Given the description of an element on the screen output the (x, y) to click on. 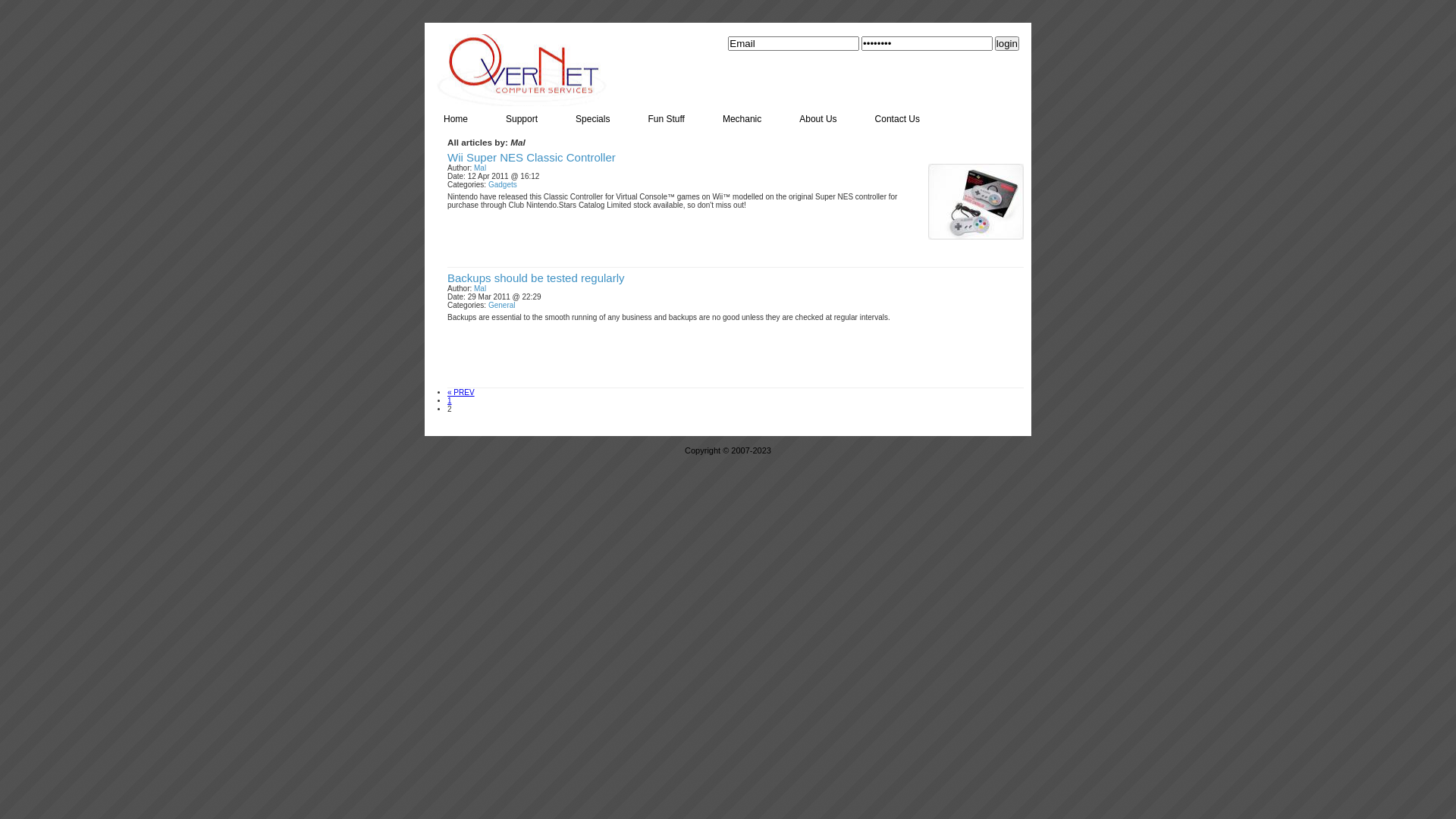
Contact Us Element type: text (897, 115)
Password Element type: text (926, 43)
Fun Stuff Element type: text (665, 115)
Mal Element type: text (479, 288)
Home Element type: text (455, 115)
Gadgets Element type: text (502, 184)
General Element type: text (501, 305)
Wii Super NES Classic Controller Element type: text (531, 156)
About Us Element type: text (817, 115)
Email Element type: text (793, 43)
Mal Element type: text (479, 167)
Specials Element type: text (592, 115)
Backups should be tested regularly Element type: text (535, 277)
login Element type: text (1006, 43)
1 Element type: text (449, 400)
Mechanic Element type: text (741, 115)
Support Element type: text (521, 115)
